Given the description of an element on the screen output the (x, y) to click on. 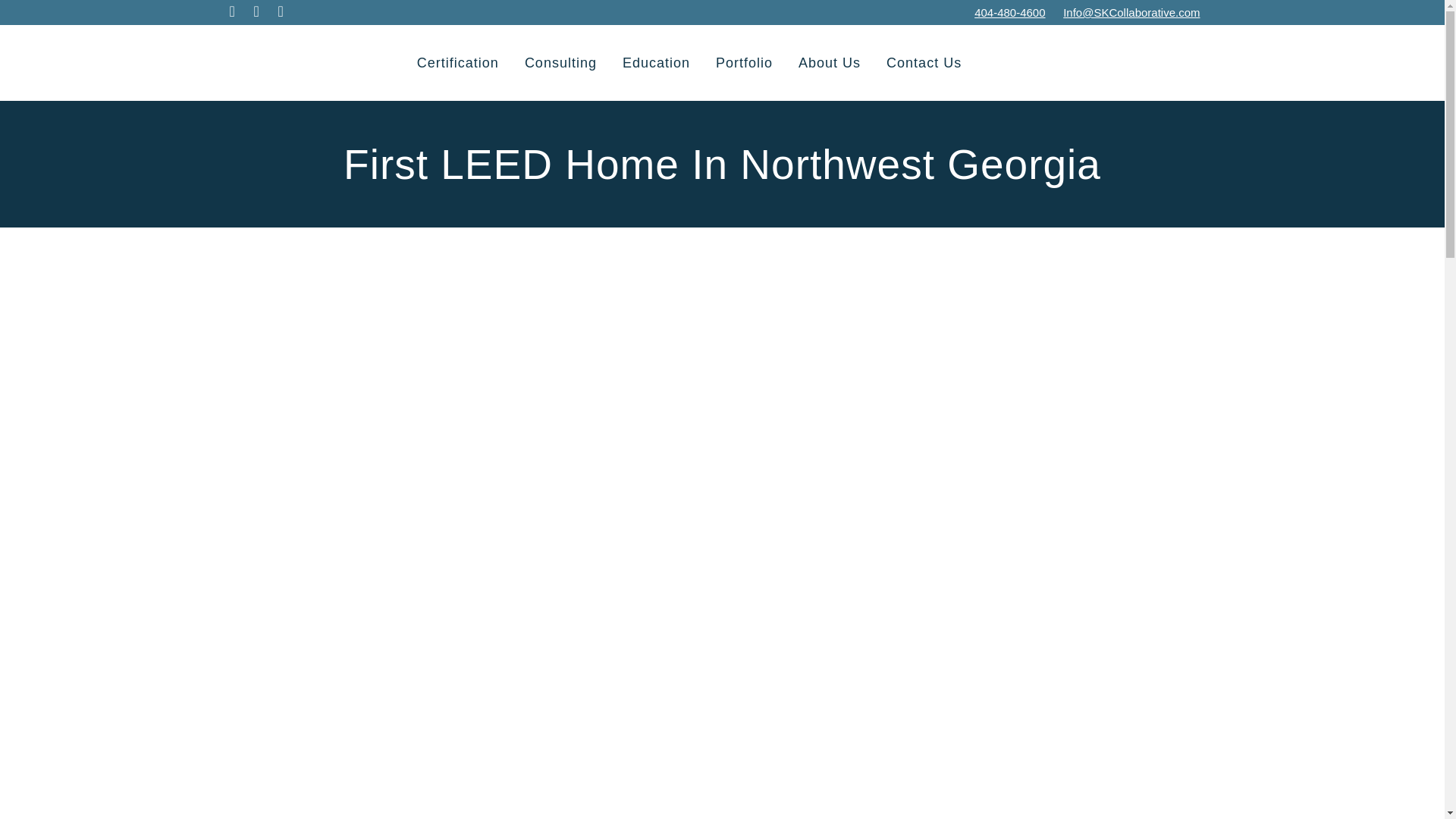
Contact Us (923, 62)
404-480-4600 (1009, 11)
Consulting (561, 62)
Education (656, 62)
Portfolio (744, 62)
About Us (829, 62)
Certification (458, 62)
